Given the description of an element on the screen output the (x, y) to click on. 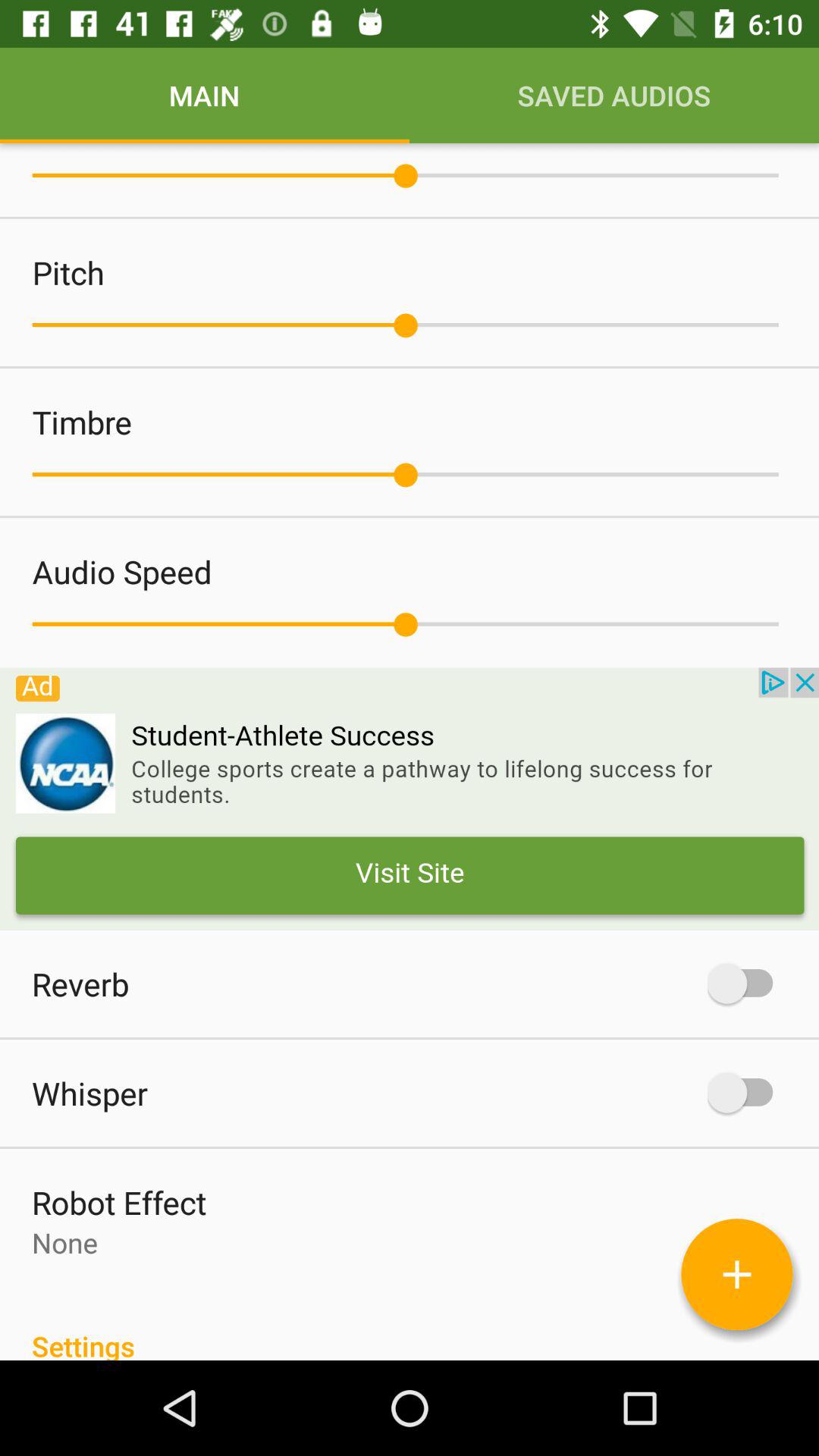
click on the advertisement (409, 798)
